Given the description of an element on the screen output the (x, y) to click on. 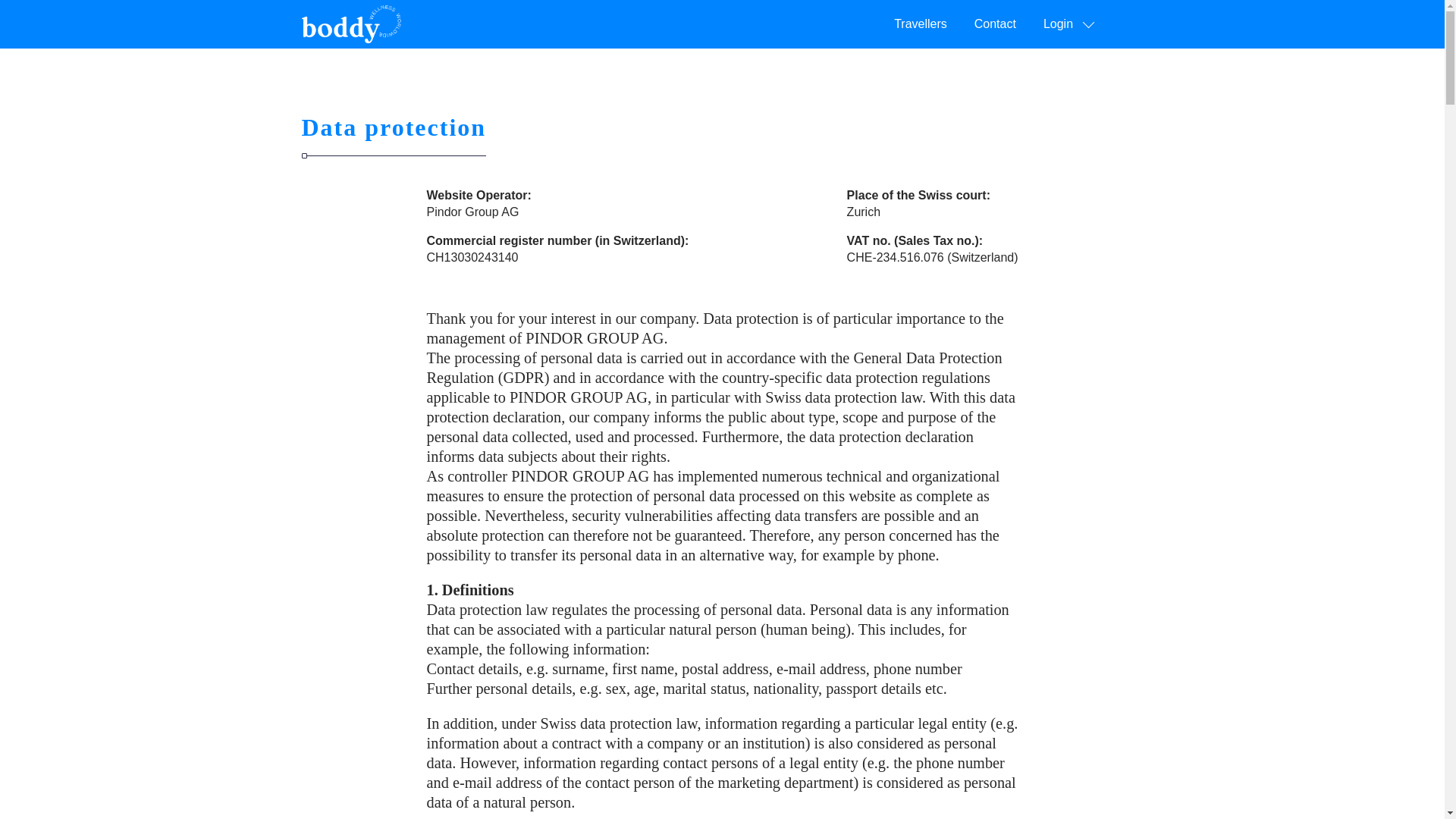
Contact (994, 24)
Travellers (920, 24)
